Given the description of an element on the screen output the (x, y) to click on. 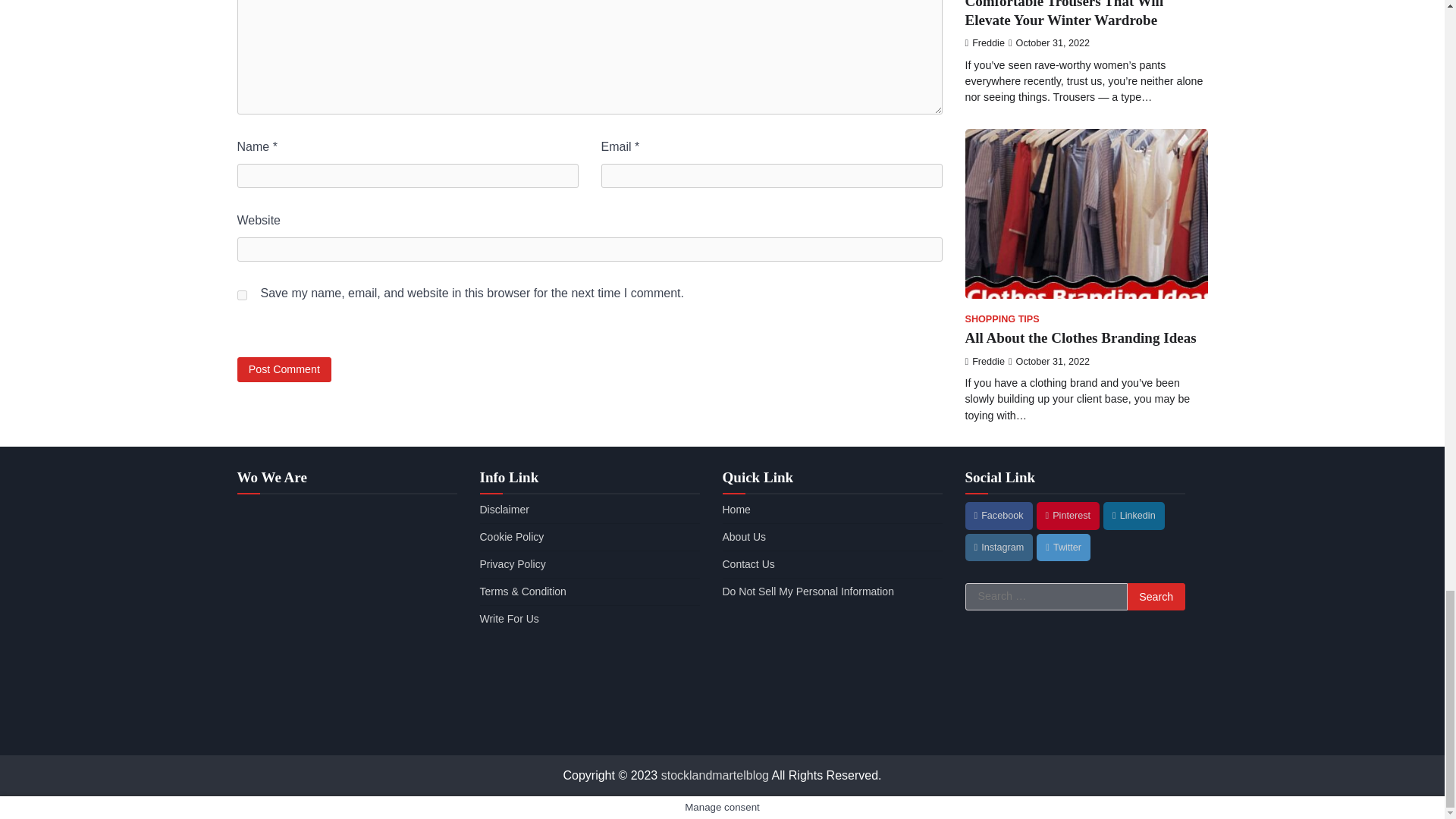
Search (1155, 596)
Post Comment (283, 369)
DMCA.com Protection Status (832, 727)
Search (1155, 596)
yes (240, 295)
Post Comment (283, 369)
